Given the description of an element on the screen output the (x, y) to click on. 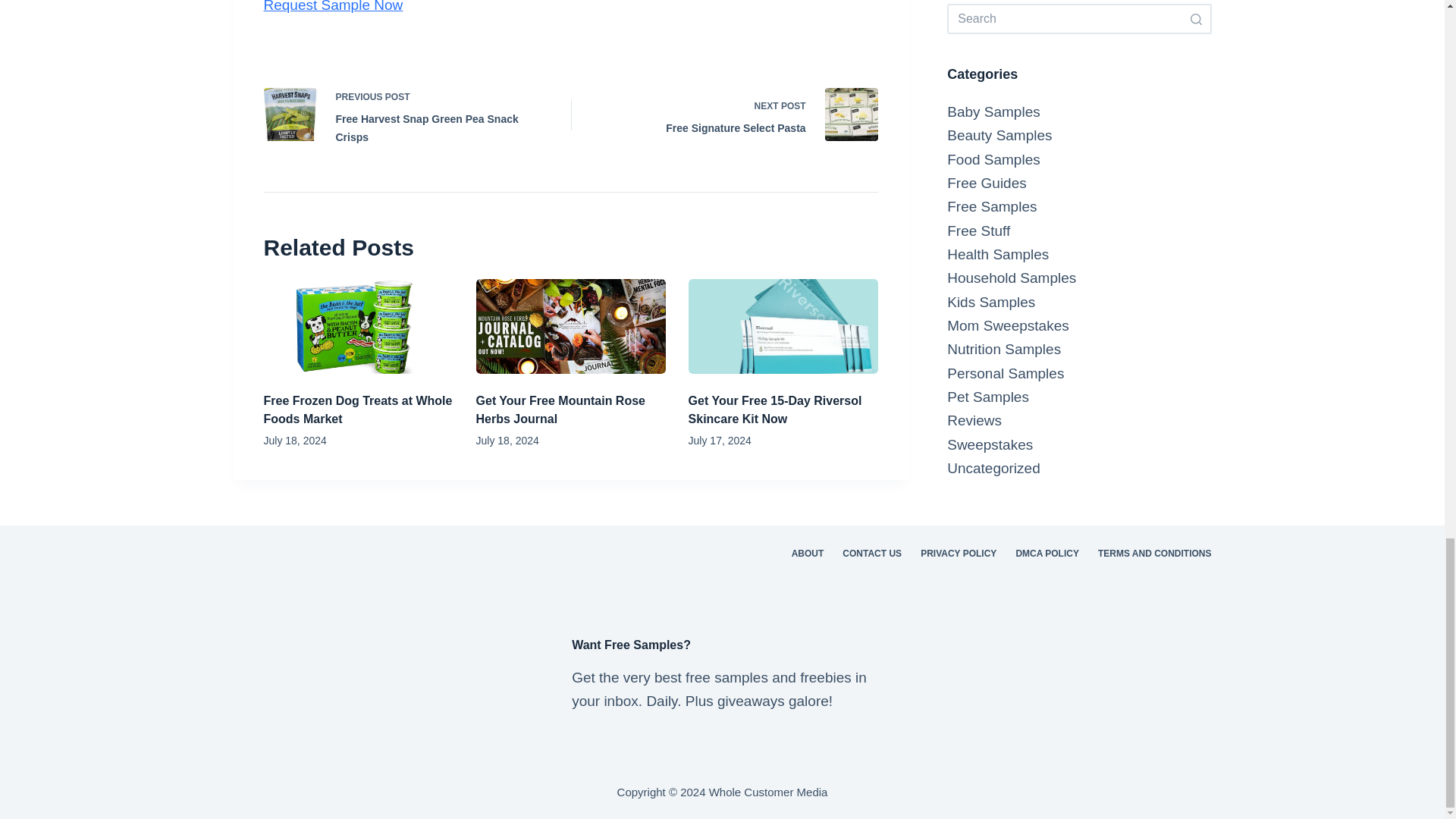
Get Your Free Mountain Rose Herbs Journal (560, 409)
Get Your Free 15-Day Riversol Skincare Kit Now (736, 114)
Request Sample Now (774, 409)
Free Frozen Dog Treats at Whole Foods Market (333, 6)
